Given the description of an element on the screen output the (x, y) to click on. 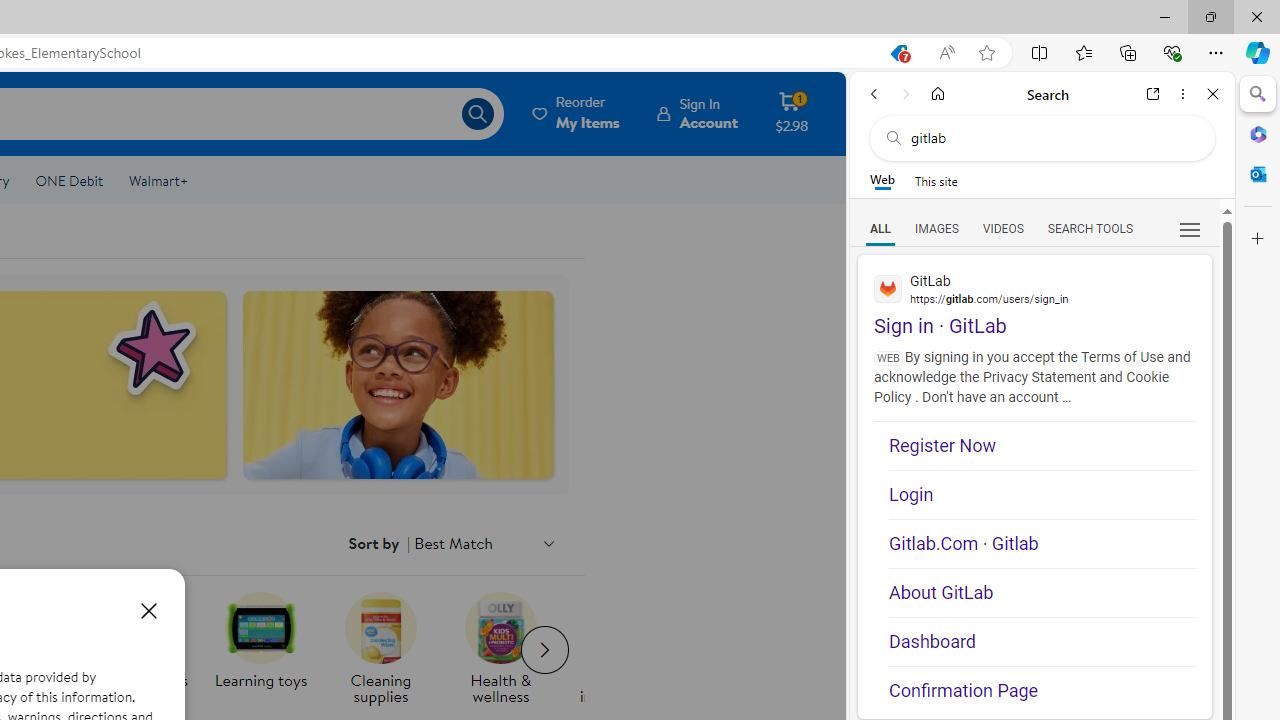
Search the web (1051, 137)
Search Filter, Search Tools (1090, 228)
About GitLab (1042, 592)
More options (1182, 93)
This site scope (936, 180)
Search Filter, IMAGES (936, 228)
Close Search pane (1258, 94)
Close dialog (148, 610)
Global web icon (888, 288)
Search Filter, ALL (881, 228)
